Given the description of an element on the screen output the (x, y) to click on. 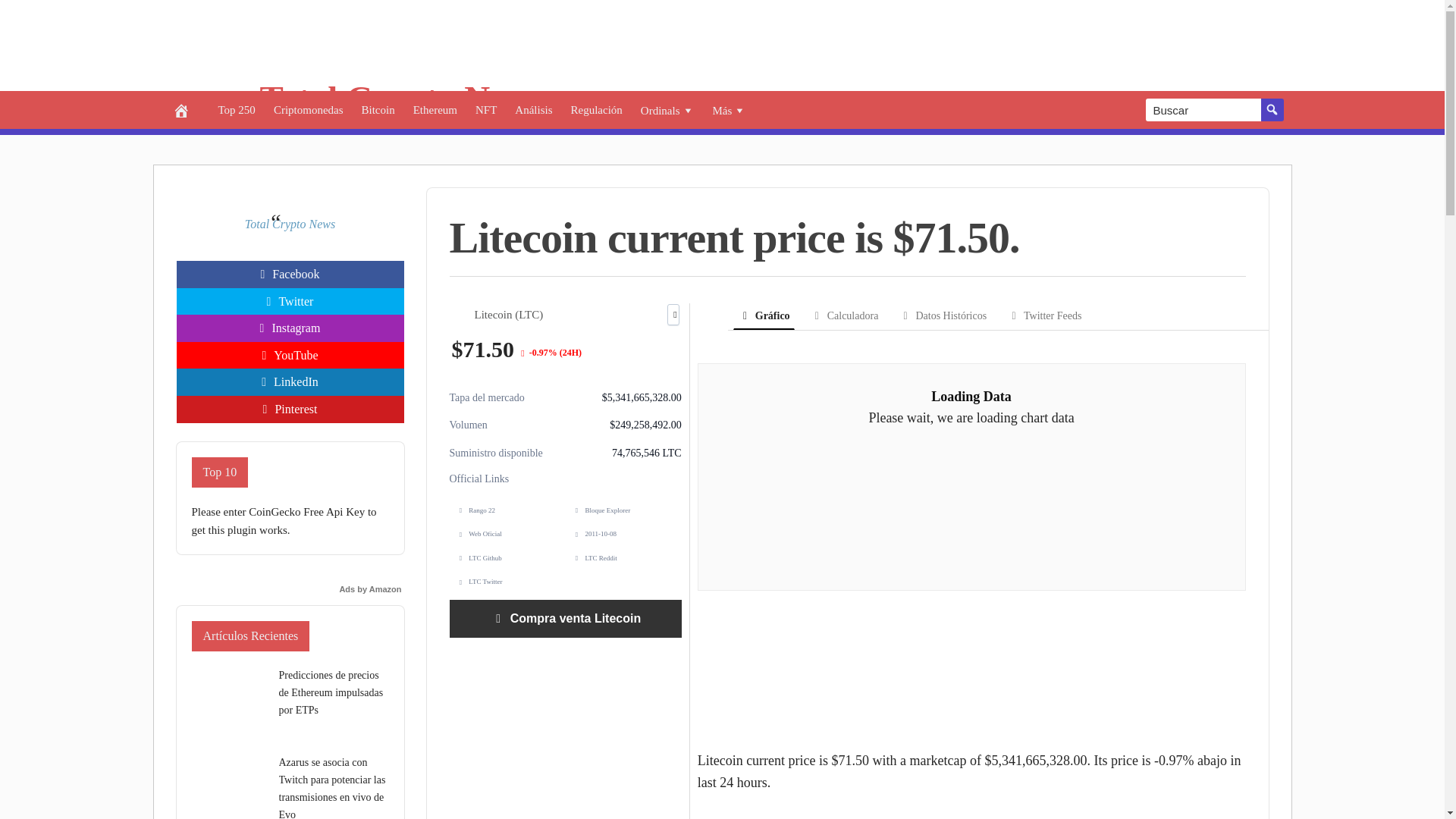
NFT (485, 109)
Criptomonedas (308, 109)
Top 250 (236, 109)
Total Crypto News (401, 97)
Ordinals (667, 109)
Bitcoin (378, 109)
Ethereum (434, 109)
